Given the description of an element on the screen output the (x, y) to click on. 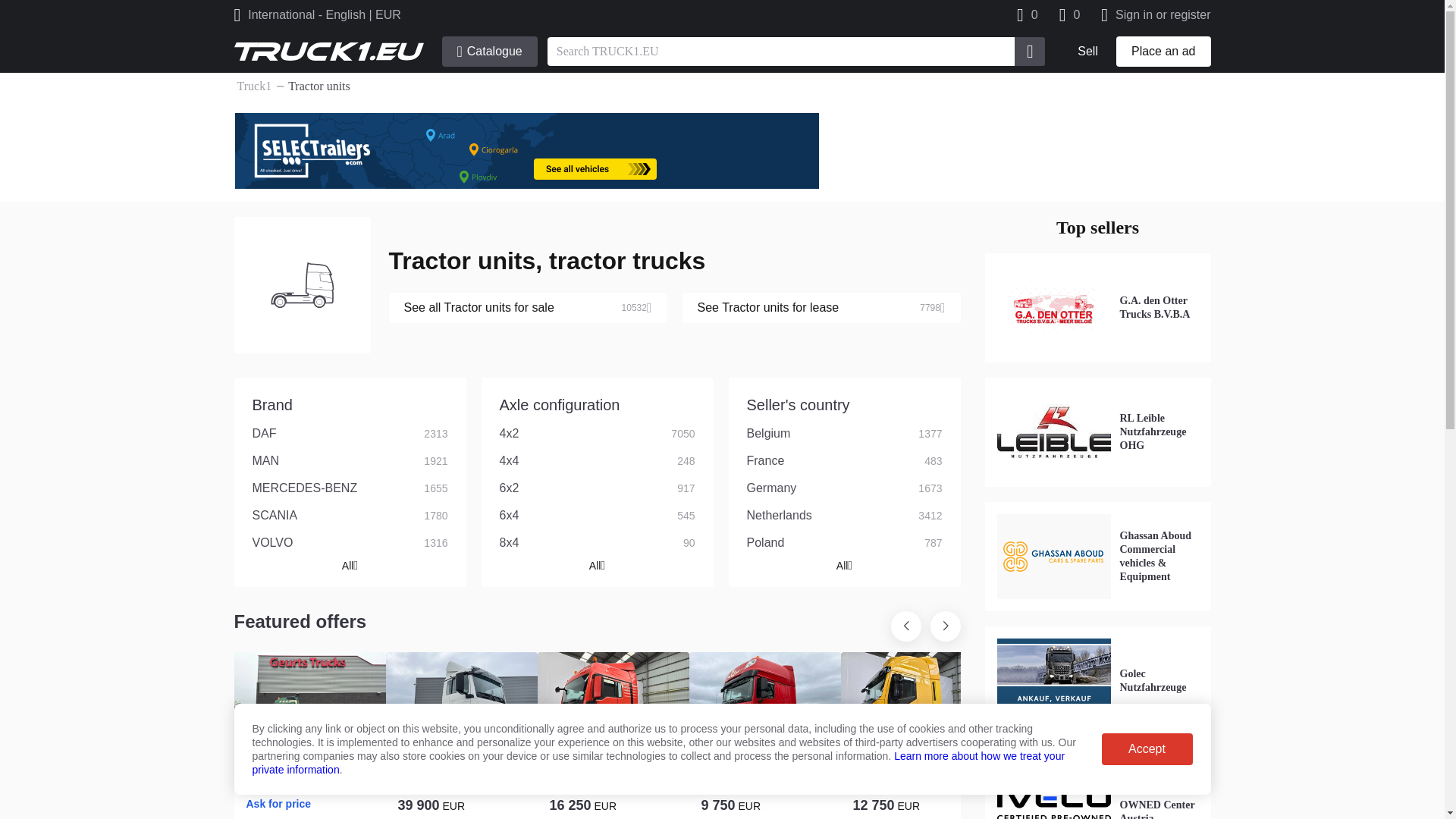
Place an ad (1163, 51)
0 (1069, 18)
IVECO PRE-OWNED Center Austria (1096, 785)
G.A. den Otter Trucks B.V.B.A (1096, 307)
Golec Nutzfahrzeuge (1096, 680)
RL Leible Nutzfahrzeuge OHG (1096, 431)
Truck1 - Used Tractor units (327, 50)
Compared ads: 0 (1069, 18)
